Given the description of an element on the screen output the (x, y) to click on. 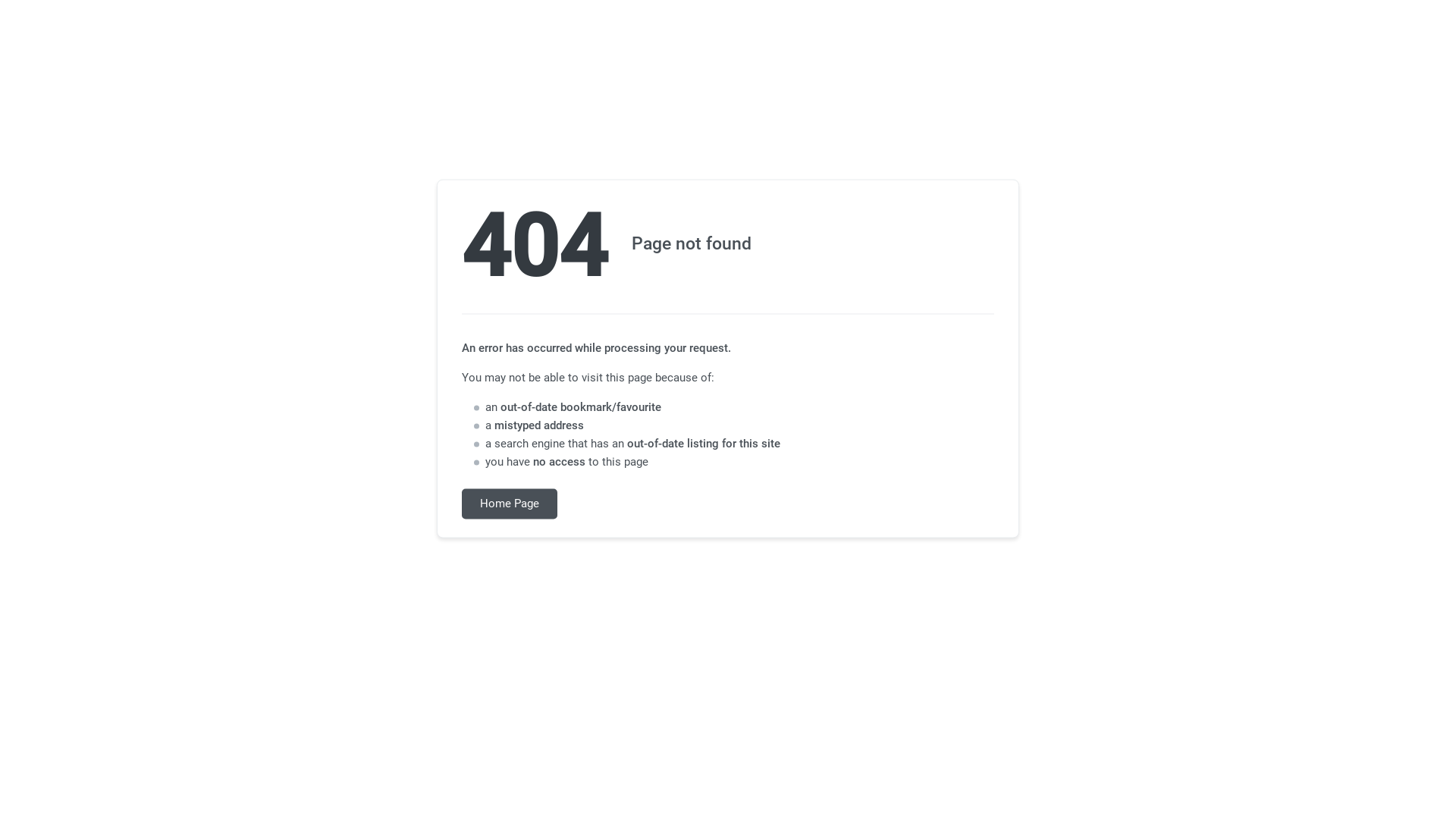
Home Page Element type: text (509, 503)
